Given the description of an element on the screen output the (x, y) to click on. 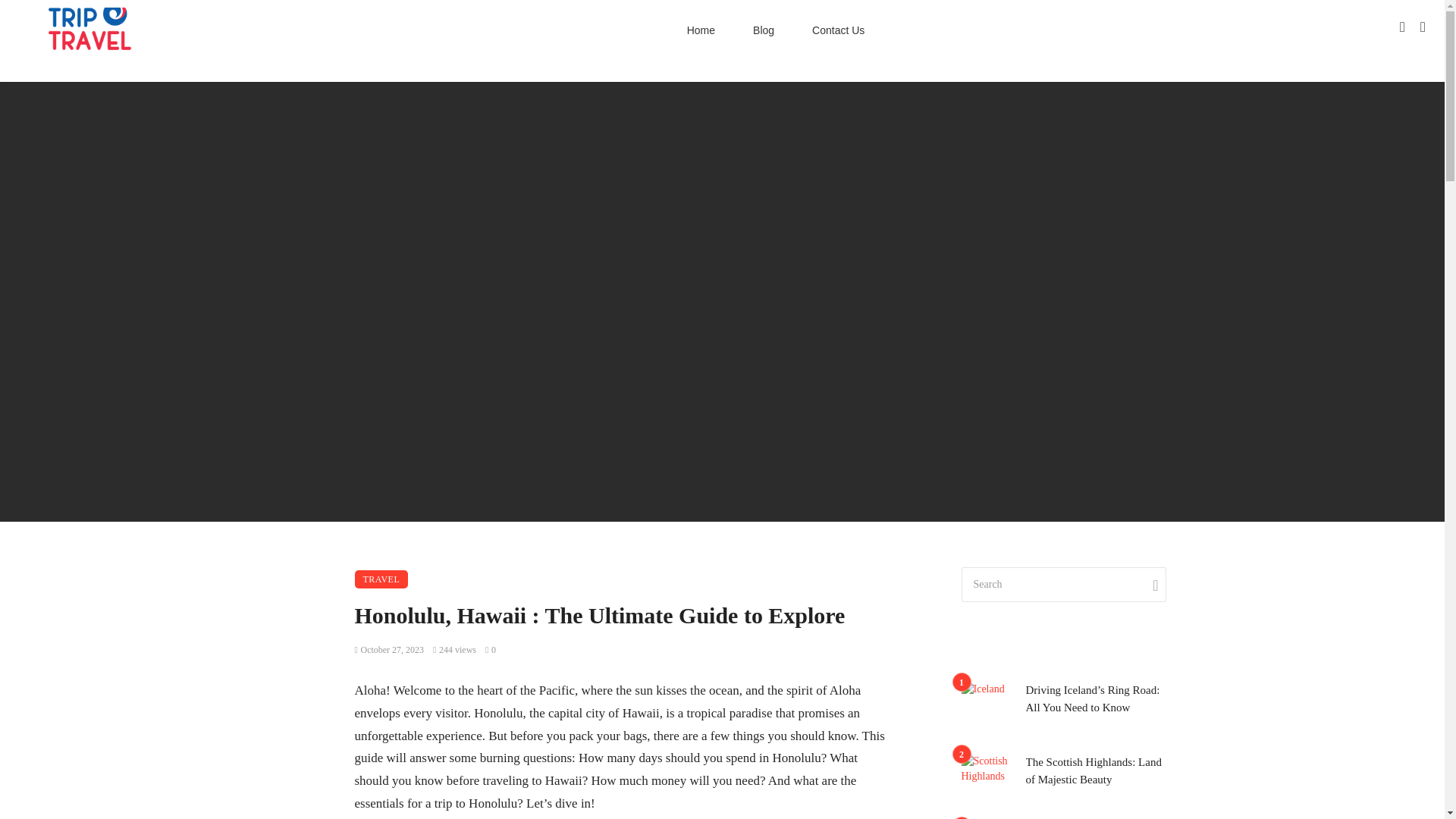
Contact Us (838, 30)
Home (700, 30)
TRAVEL (382, 579)
October 27, 2023 at 11:46 am (390, 649)
0 (490, 649)
0 Comments (490, 649)
Blog (763, 30)
